Given the description of an element on the screen output the (x, y) to click on. 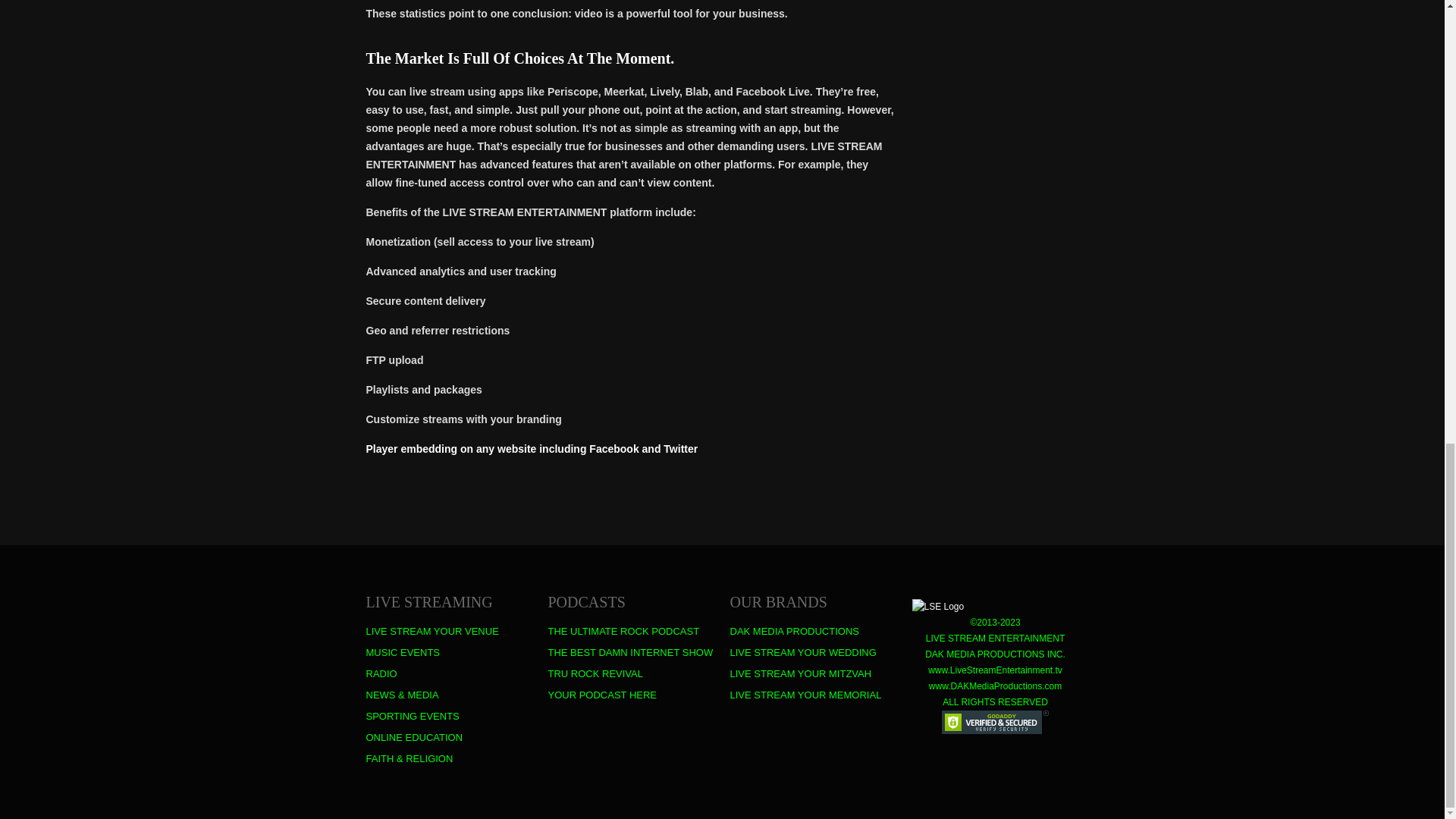
SPORTING EVENTS (411, 716)
LIVE STREAM YOUR MITZVAH (799, 673)
LIVE STREAM YOUR WEDDING (802, 653)
ONLINE EDUCATION (414, 737)
THE ULTIMATE ROCK PODCAST (622, 631)
DAK MEDIA PRODUCTIONS (794, 631)
LIVE STREAM YOUR MEMORIAL (804, 694)
MUSIC EVENTS (402, 653)
LIVE STREAM YOUR VENUE (431, 631)
THE BEST DAMN INTERNET SHOW (630, 653)
YOUR PODCAST HERE (601, 694)
RADIO (380, 673)
TRU ROCK REVIVAL (594, 673)
